Given the description of an element on the screen output the (x, y) to click on. 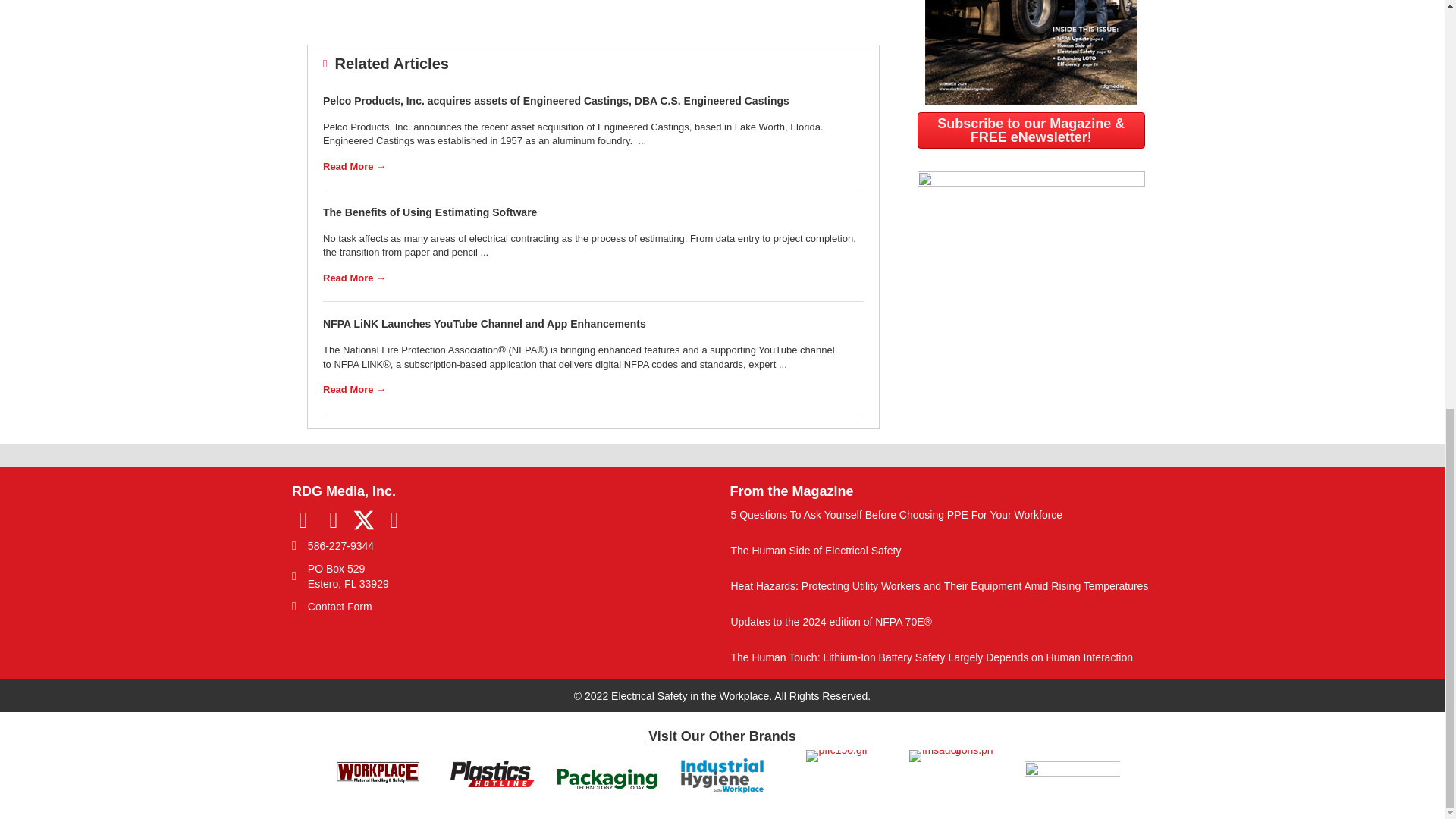
NFPA LiNK Launches YouTube Channel and App Enhancements (484, 323)
Read More (354, 277)
Read More (354, 389)
The Benefits of Using Estimating Software (430, 212)
Read More (354, 165)
